Given the description of an element on the screen output the (x, y) to click on. 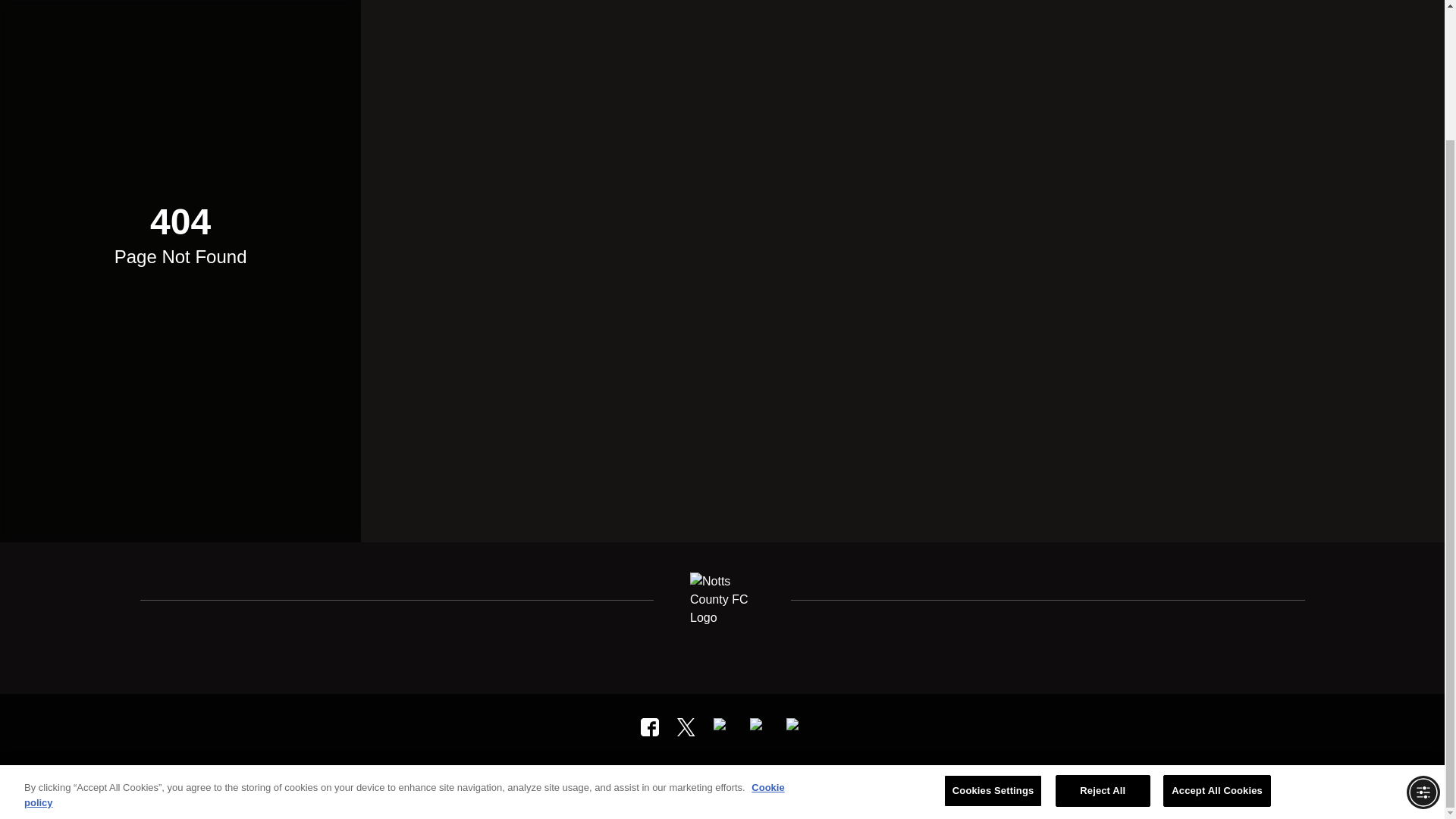
Privacy (529, 779)
Company details  (832, 779)
Reject All (1102, 632)
Contact us (906, 779)
Cookies policy (701, 779)
Accessibility Menu (1422, 633)
Accessibility (629, 779)
Policies (764, 779)
Contact us (906, 779)
Cookies policy (701, 779)
